Given the description of an element on the screen output the (x, y) to click on. 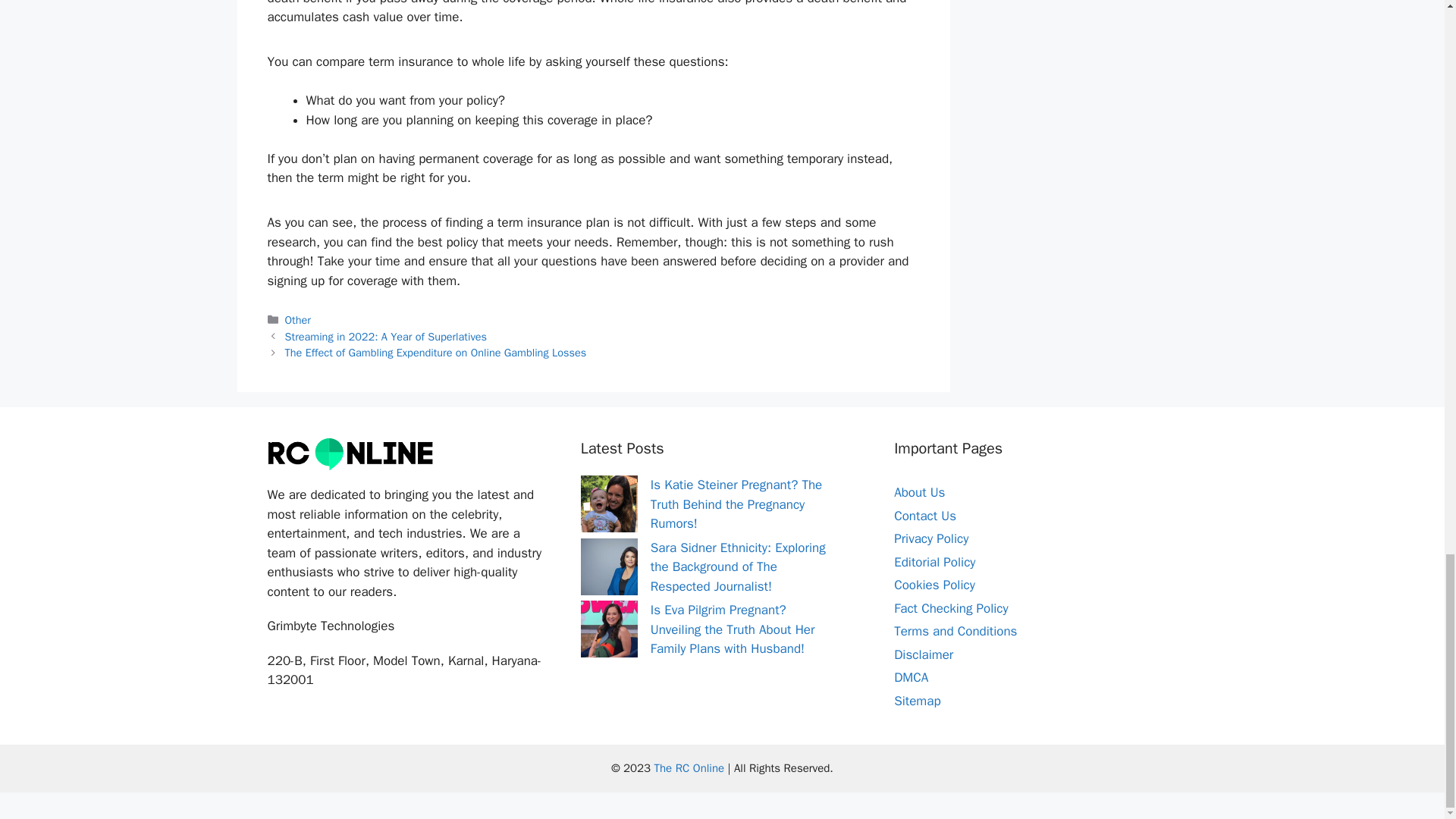
Privacy Policy (930, 538)
About Us (918, 492)
Other (298, 319)
Contact Us (924, 515)
Editorial Policy (934, 562)
Fact Checking Policy (950, 608)
Cookies Policy (934, 584)
The Effect of Gambling Expenditure on Online Gambling Losses (435, 352)
